Given the description of an element on the screen output the (x, y) to click on. 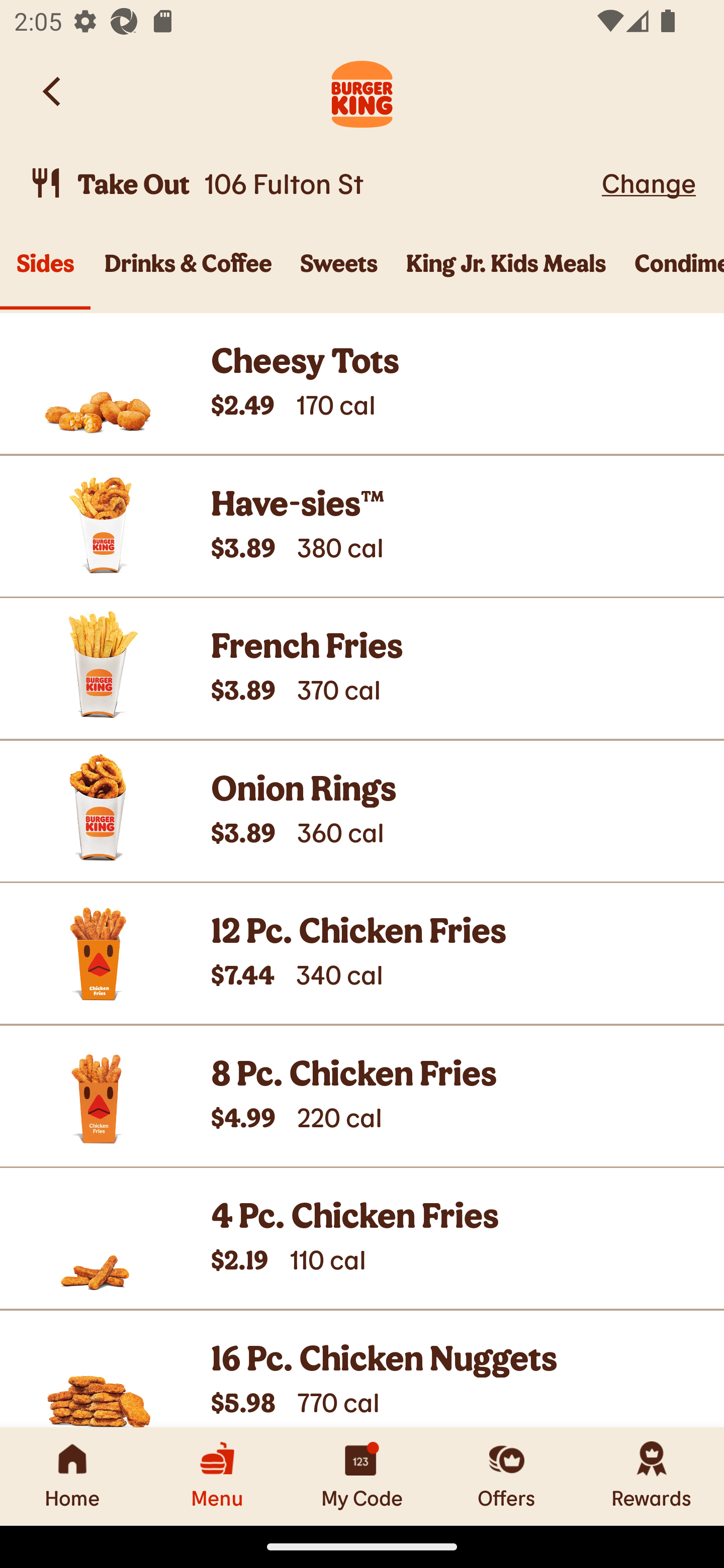
Burger King Logo. Navigate to Home (362, 91)
Back (52, 91)
Take Out, 106 Fulton St  Take Out 106 Fulton St (311, 183)
Change (648, 182)
Sides (45, 273)
Drinks & Coffee (187, 273)
Sweets (338, 273)
King Jr. Kids Meals (506, 273)
Condiments (672, 273)
Home (72, 1475)
Menu (216, 1475)
My Code (361, 1475)
Offers (506, 1475)
Rewards (651, 1475)
